Given the description of an element on the screen output the (x, y) to click on. 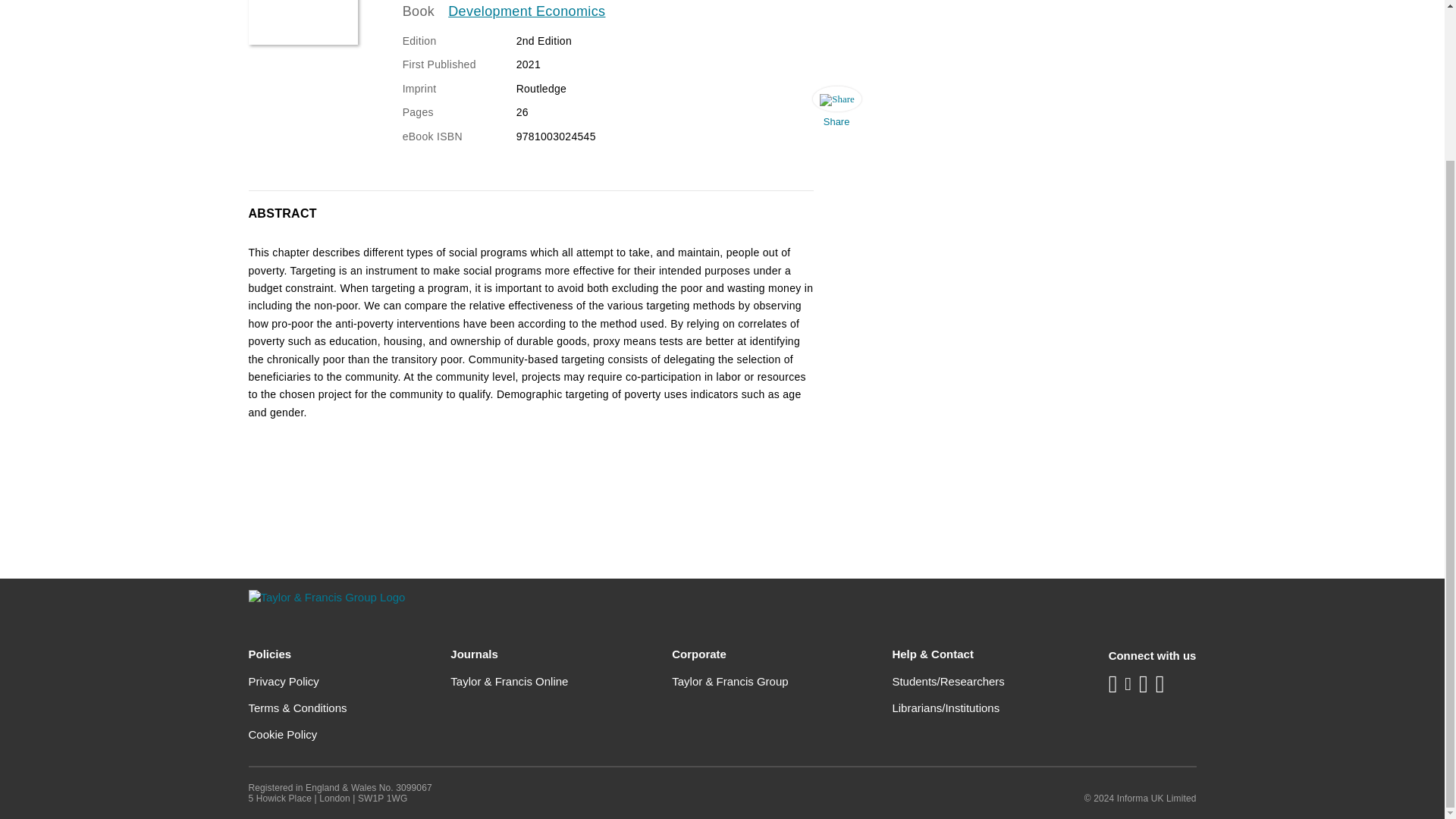
Privacy Policy (283, 681)
Cookie Policy (282, 734)
Development Economics (526, 11)
Share (836, 110)
Social Programs and Targeting (303, 22)
